Given the description of an element on the screen output the (x, y) to click on. 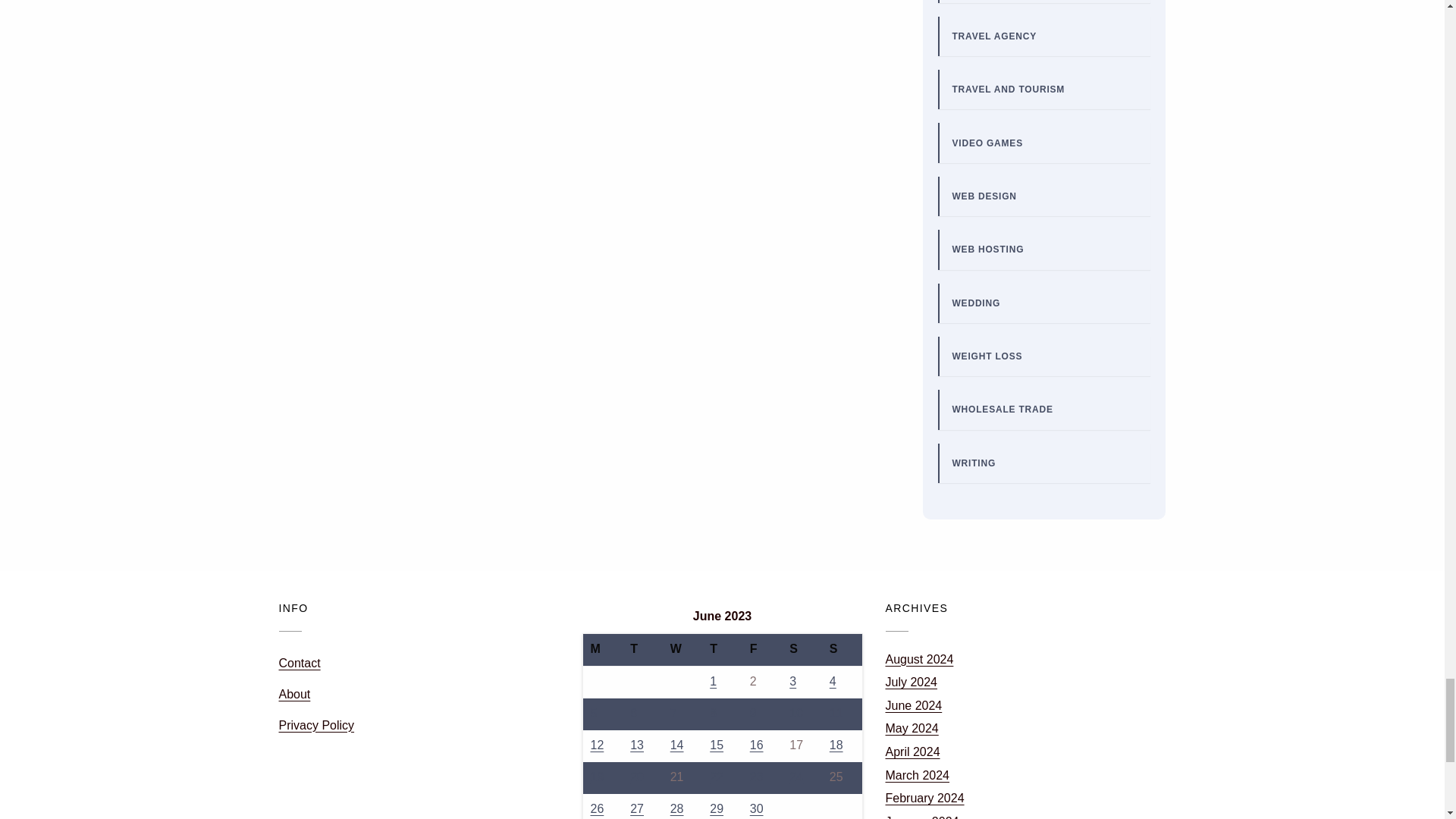
Saturday (801, 649)
Friday (762, 649)
Wednesday (682, 649)
Thursday (721, 649)
Sunday (841, 649)
Monday (602, 649)
Tuesday (642, 649)
